Given the description of an element on the screen output the (x, y) to click on. 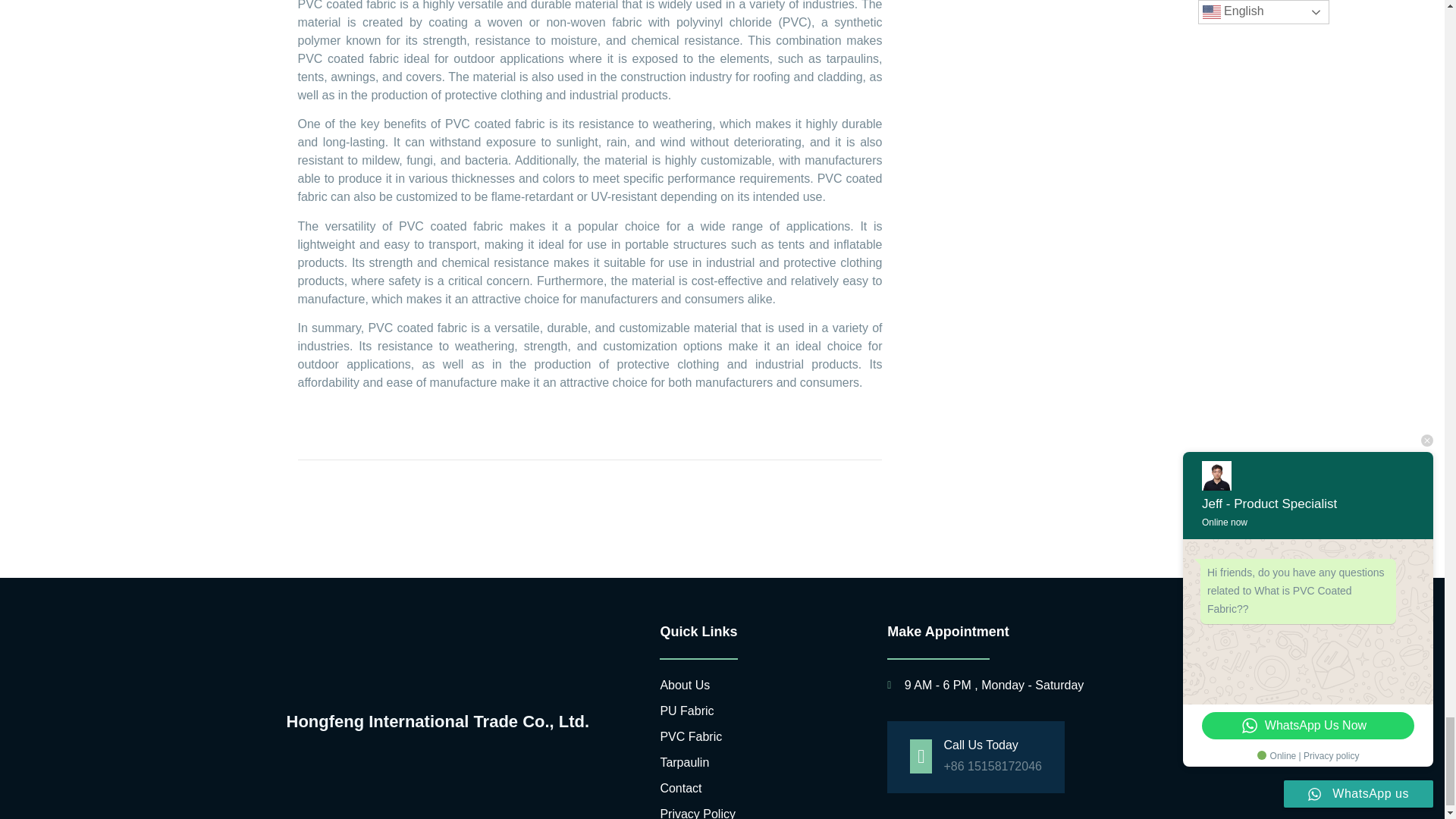
9 AM - 6 PM , Monday - Saturday (1020, 685)
Quick Links (761, 631)
Make Appointment (1020, 631)
Hongfeng International Trade Co., Ltd. (450, 722)
